Given the description of an element on the screen output the (x, y) to click on. 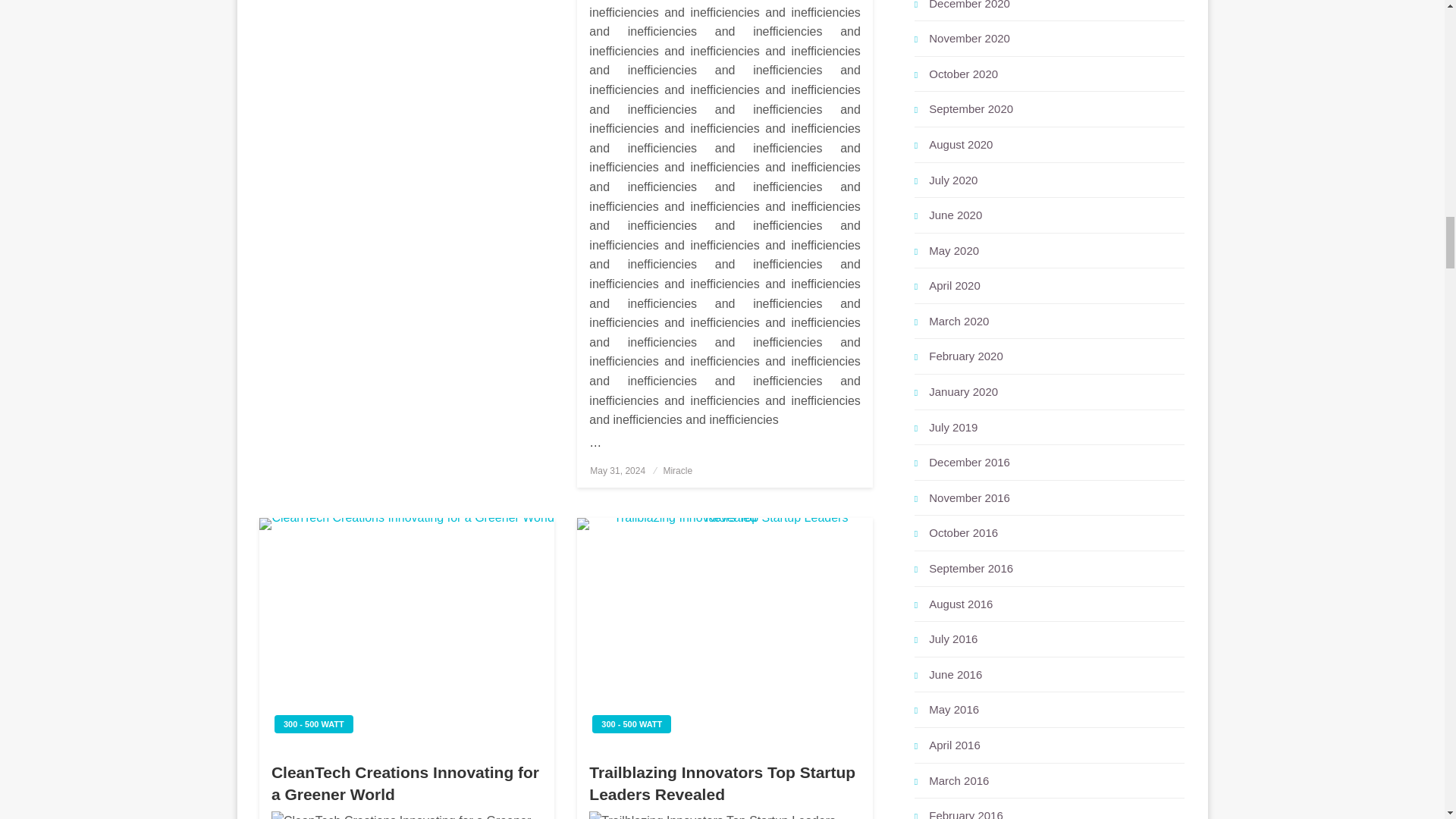
Trailblazing Innovators Top Startup Leaders Revealed (724, 631)
Trailblazing Innovators Top Startup Leaders Revealed (724, 815)
CleanTech Creations Innovating for a Greener World (406, 631)
Miracle (677, 470)
CleanTech Creations Innovating for a Greener World (405, 815)
